Given the description of an element on the screen output the (x, y) to click on. 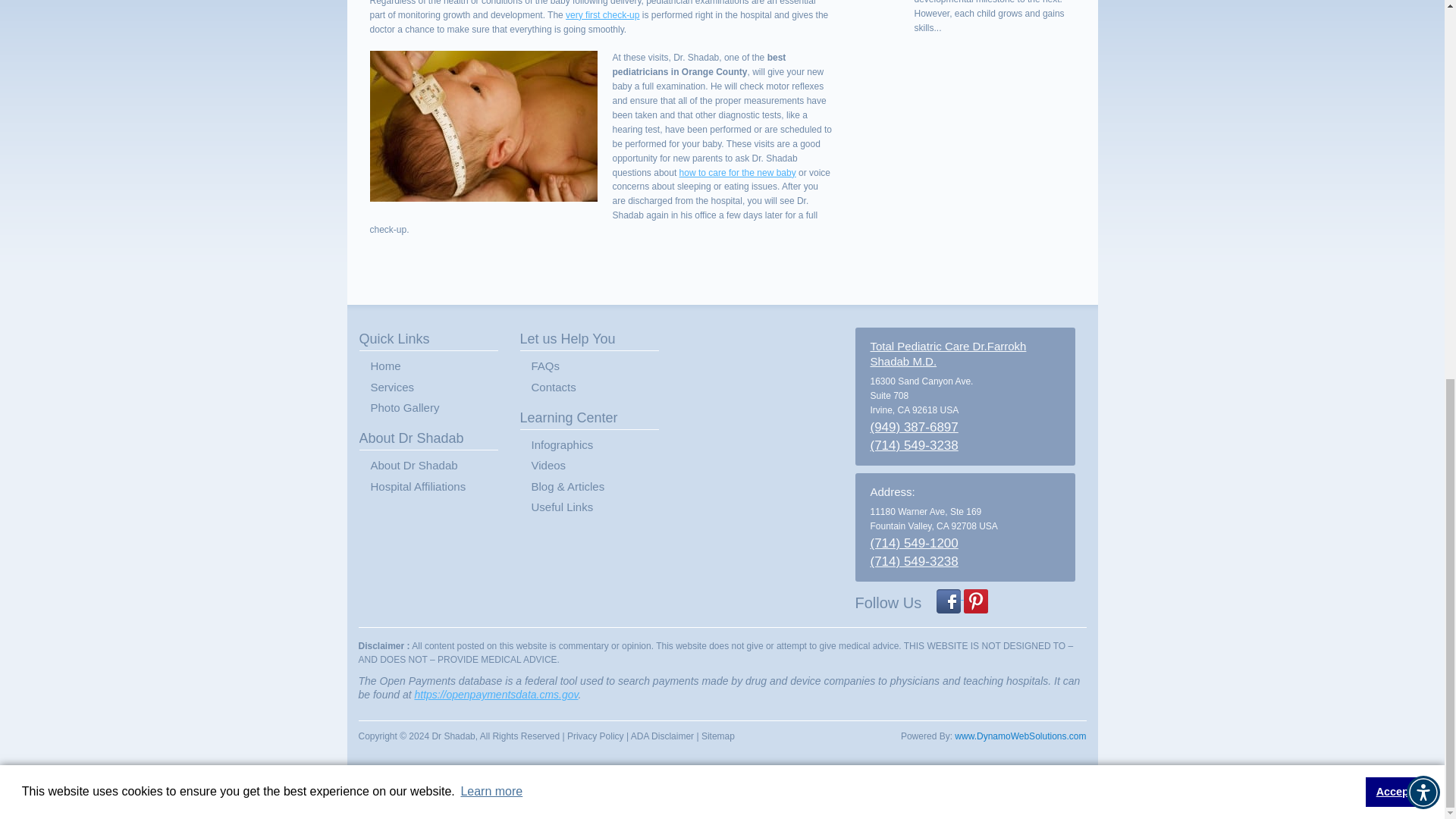
Accept (1393, 87)
Accessibility Menu (1422, 88)
Quick Links (428, 339)
how to care for the new baby (737, 172)
very first check-up (602, 14)
Learn more (491, 87)
